Given the description of an element on the screen output the (x, y) to click on. 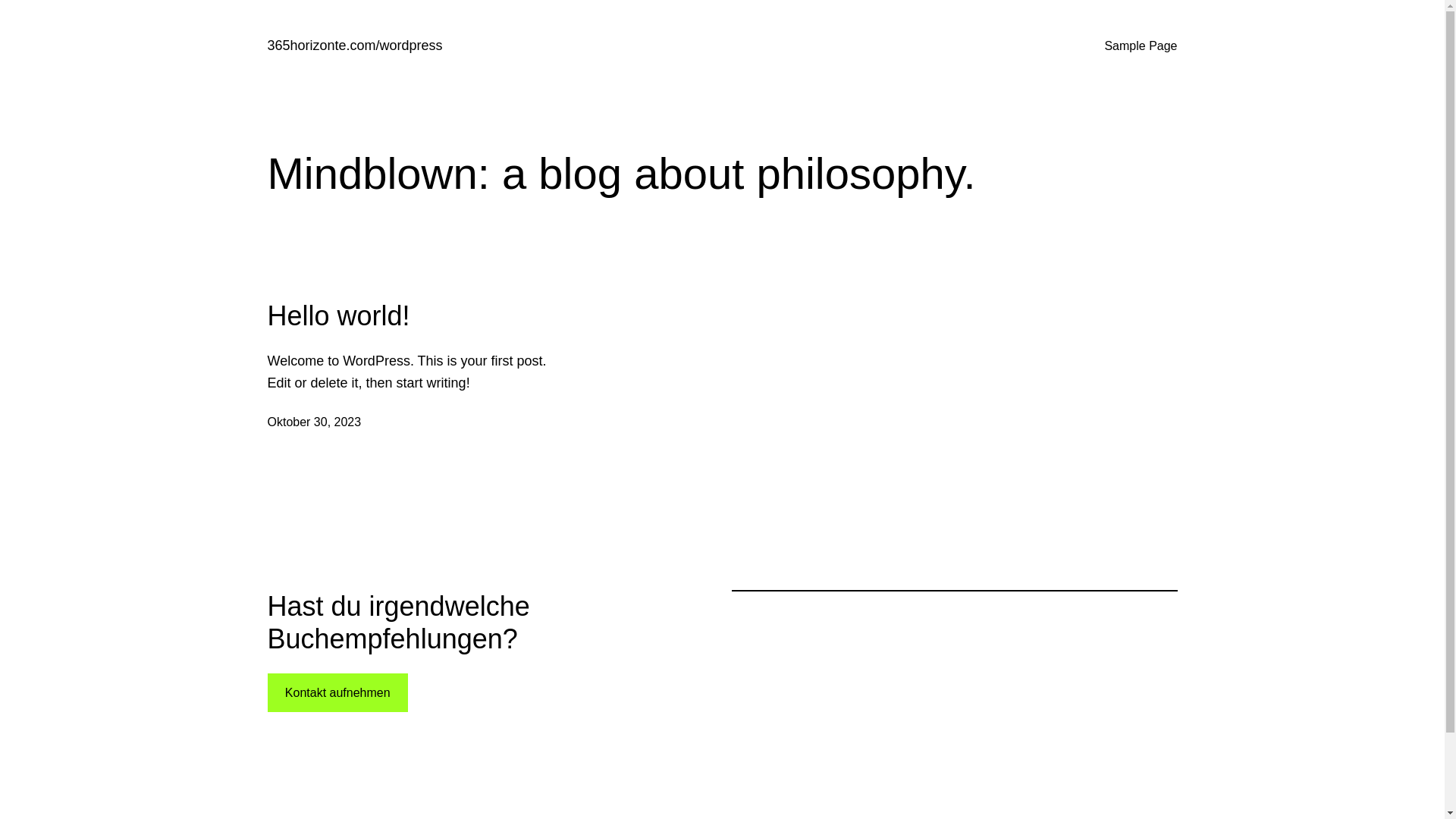
Kontakt aufnehmen Element type: text (336, 692)
Sample Page Element type: text (1140, 46)
Oktober 30, 2023 Element type: text (313, 421)
Hello world! Element type: text (337, 315)
365horizonte.com/wordpress Element type: text (354, 45)
